Given the description of an element on the screen output the (x, y) to click on. 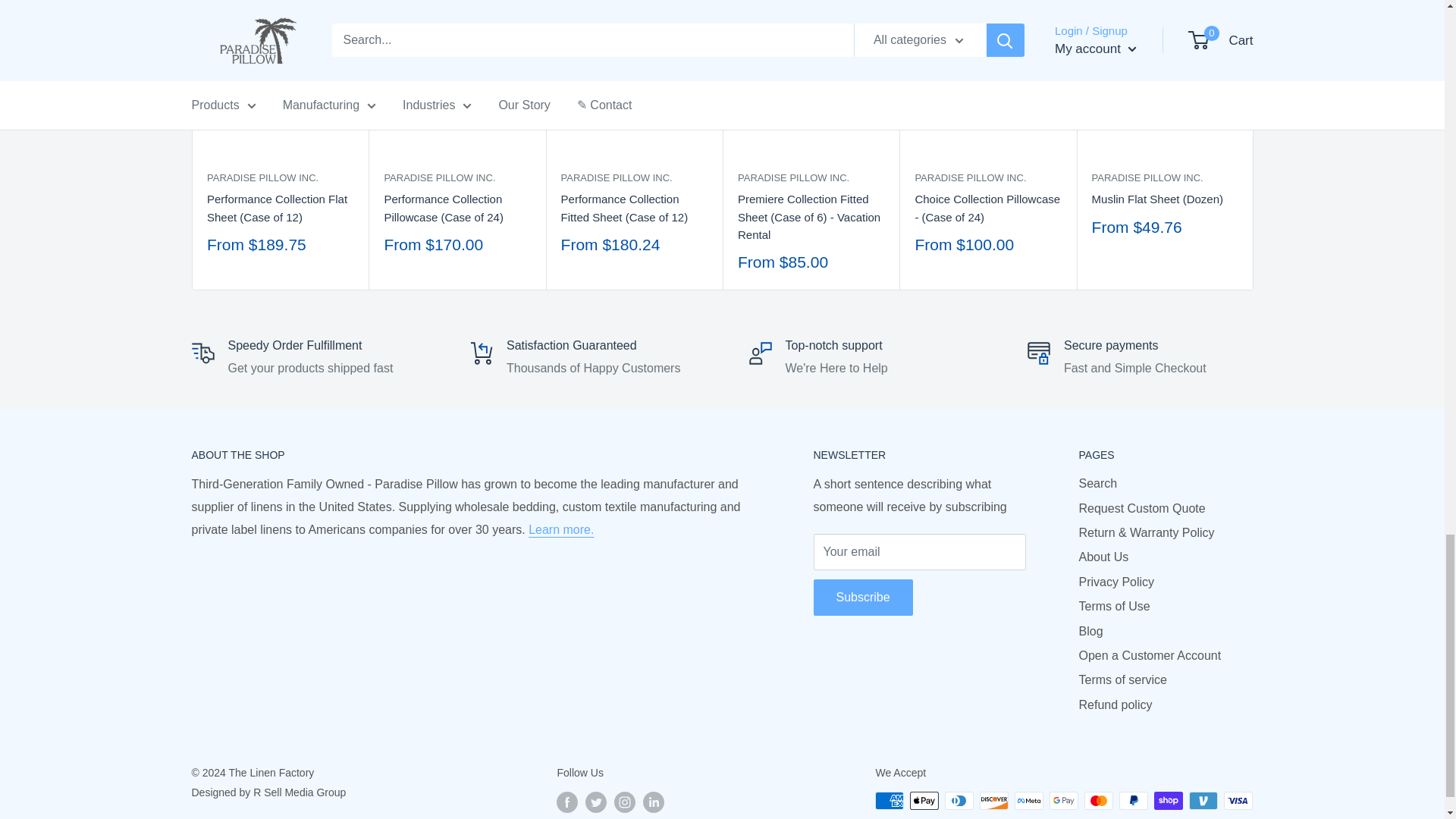
About Us (561, 529)
